Given the description of an element on the screen output the (x, y) to click on. 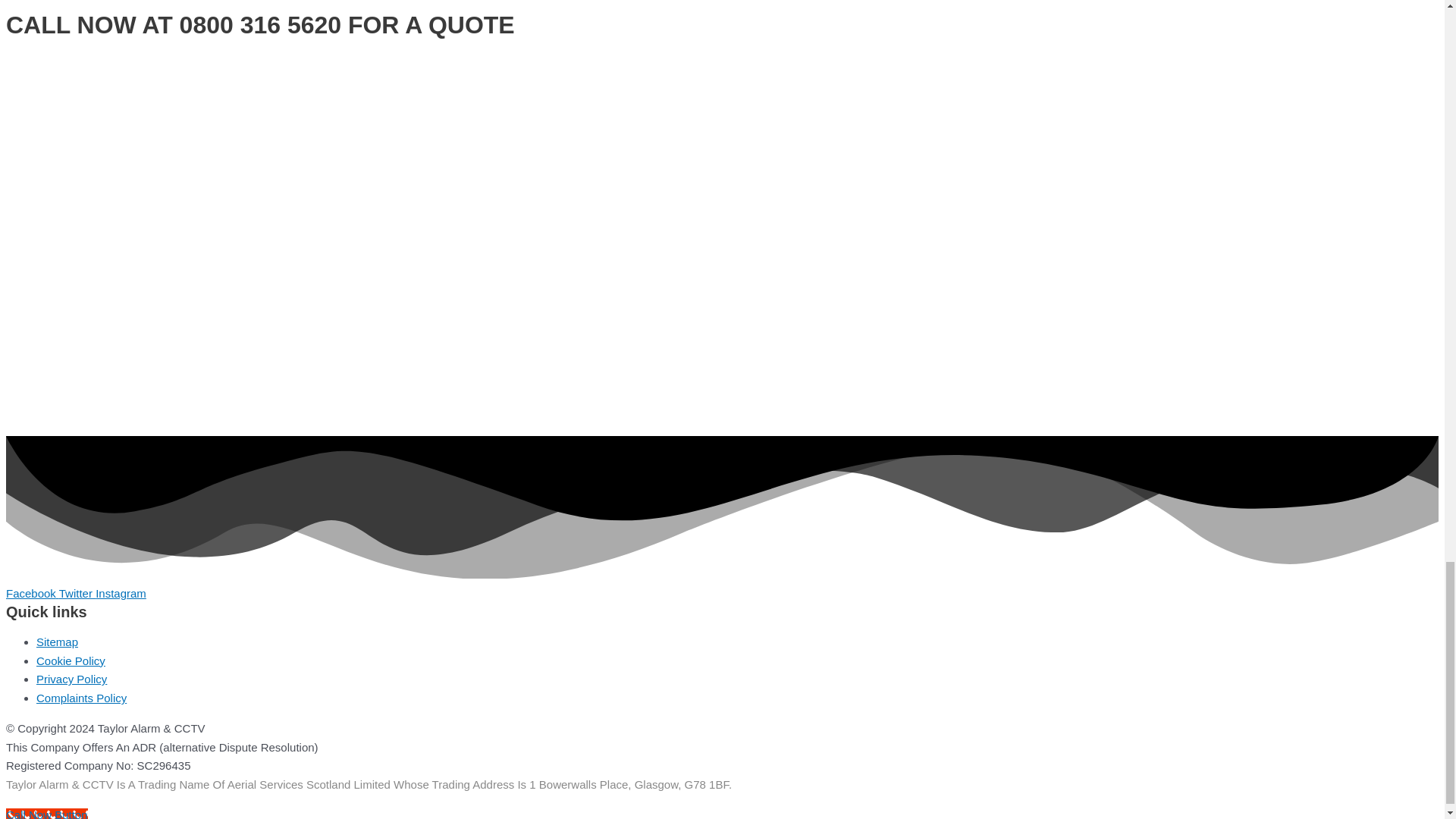
Cookie Policy (70, 660)
Sitemap (57, 641)
Instagram (121, 593)
Facebook (32, 593)
Twitter (77, 593)
Complaints Policy (81, 697)
Privacy Policy (71, 678)
